Given the description of an element on the screen output the (x, y) to click on. 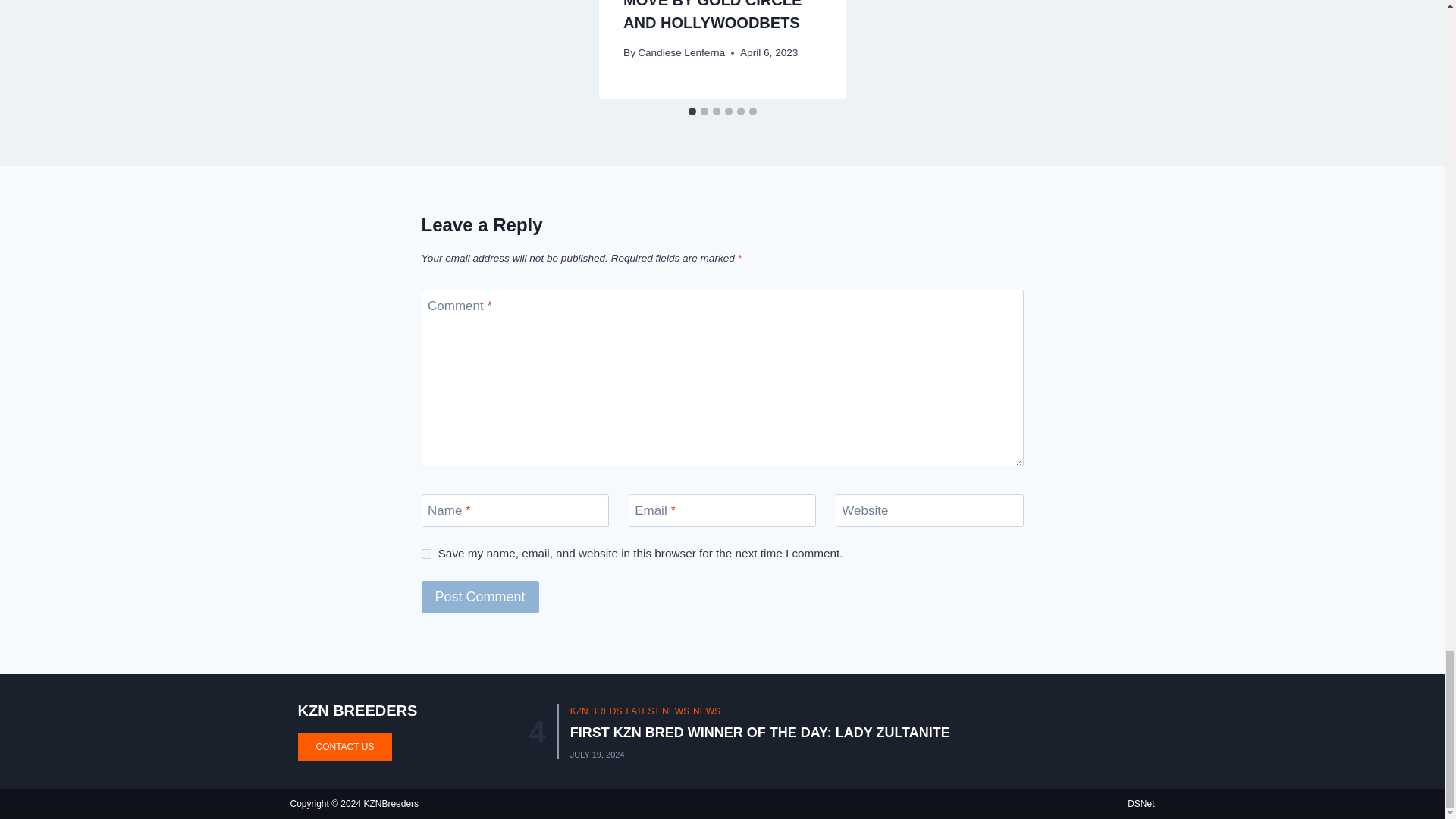
FIRST KZN BRED WINNER OF THE DAY: LADY ZULTANITE (760, 732)
yes (426, 553)
Post Comment (480, 596)
